Given the description of an element on the screen output the (x, y) to click on. 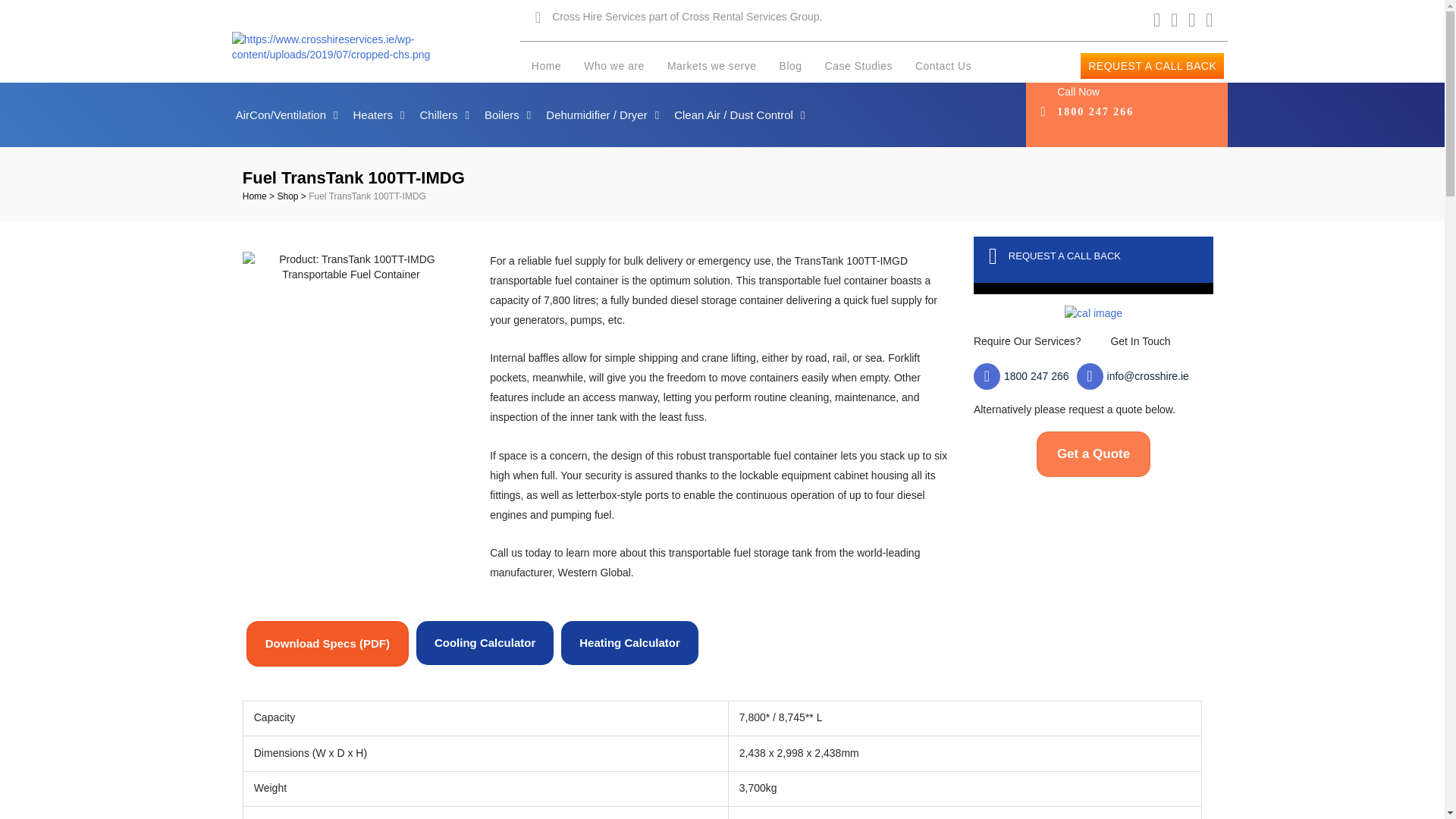
REQUEST A CALL BACK (1152, 65)
Case Studies (857, 65)
Who we are (614, 65)
Product: TransTank 100TT-IMDG Transportable Fuel Container (351, 266)
Blog (790, 65)
Contact Us (942, 65)
cropped-chs.png (375, 46)
Markets we serve (711, 65)
cal image (1093, 313)
Cross Hire Services part of Cross Rental Services Group. (686, 17)
